Given the description of an element on the screen output the (x, y) to click on. 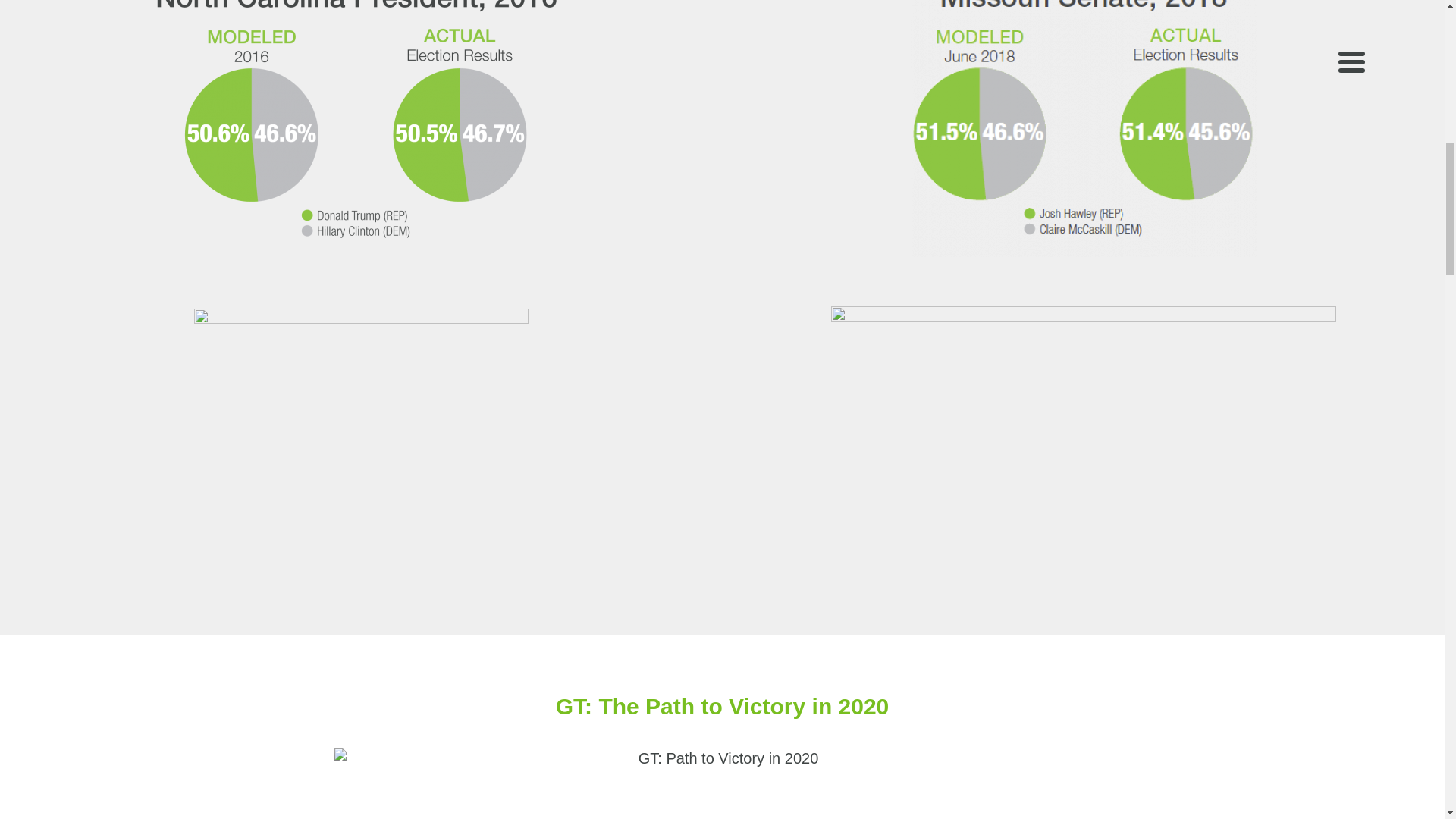
MissouriSenate-2018 (1083, 128)
